Given the description of an element on the screen output the (x, y) to click on. 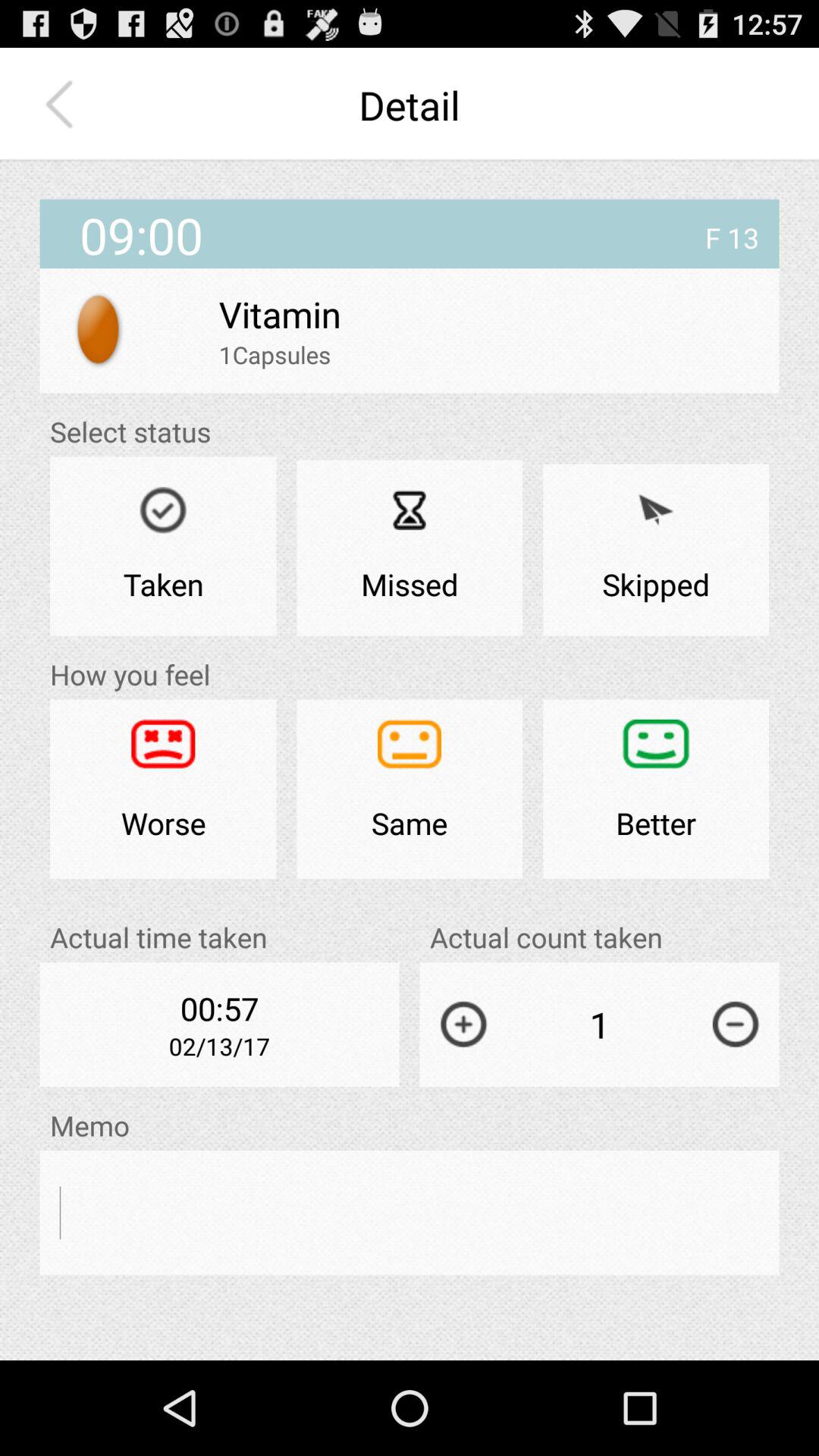
flip until worse (163, 788)
